Given the description of an element on the screen output the (x, y) to click on. 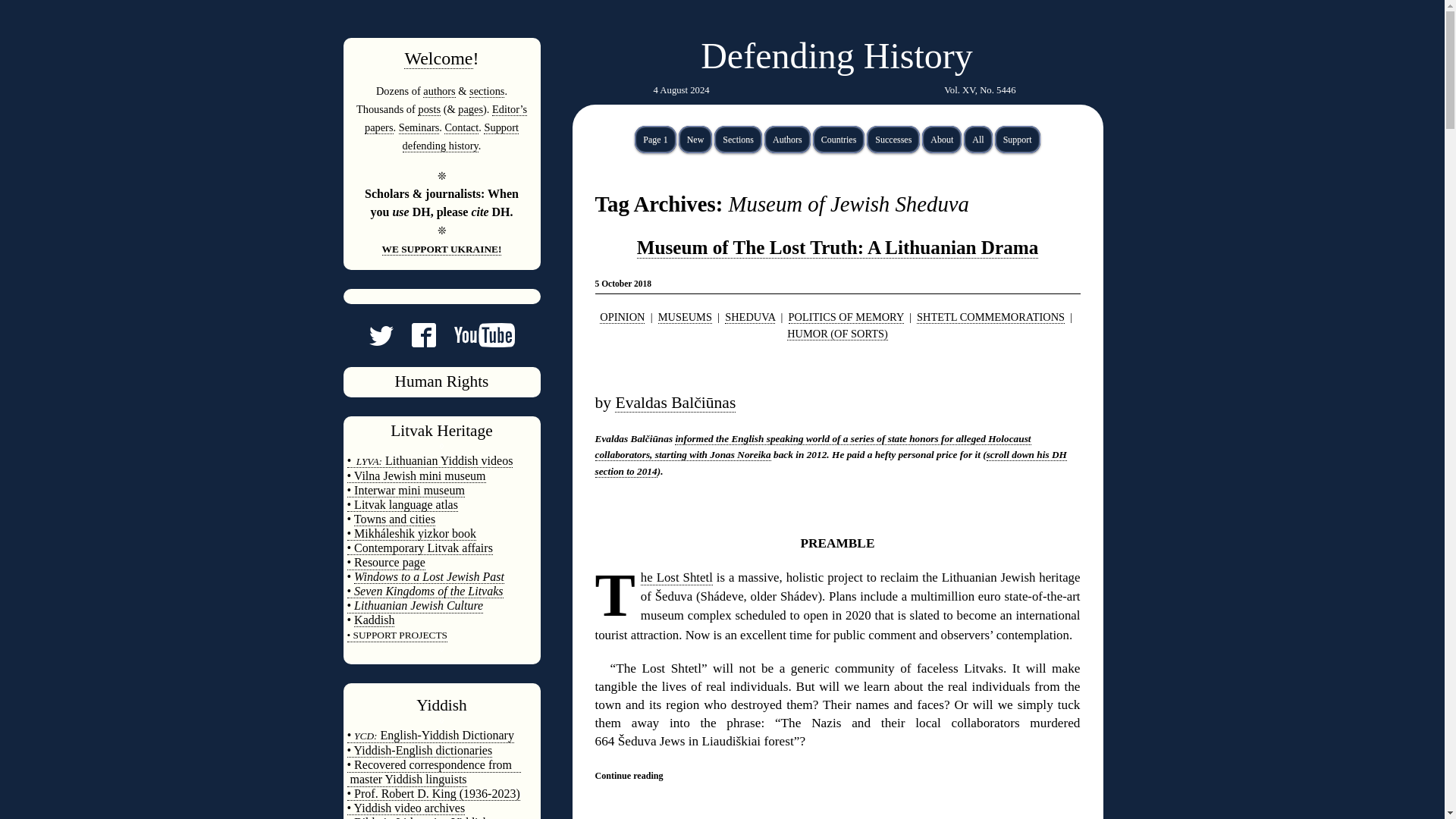
Defending History (836, 56)
Kaddish (373, 620)
Follow us on Facebook (414, 341)
sections (485, 91)
Permalink to Museum of The Lost Truth:  A Lithuanian Drama (838, 247)
Welcome (437, 58)
Windows to a Lost Jewish Past (428, 576)
Support defending history (460, 136)
Towns and cities (394, 519)
Human Rights (441, 381)
authors (438, 91)
WE SUPPORT UKRAINE! (441, 248)
Seminars (418, 127)
posts (429, 109)
Contact (461, 127)
